Given the description of an element on the screen output the (x, y) to click on. 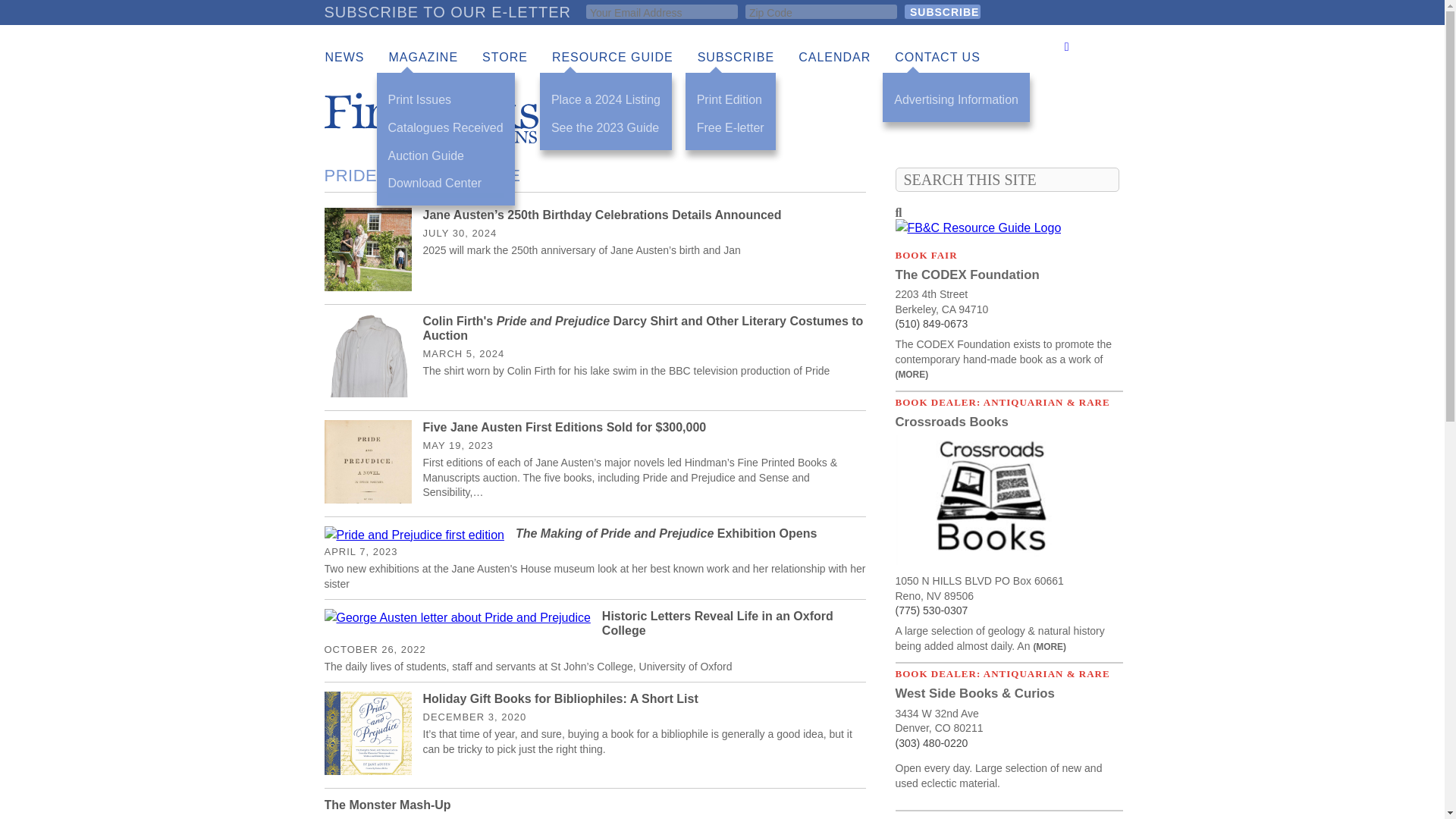
Download Center (445, 183)
Subscribe (941, 11)
CONTACT US (937, 57)
The CODEX Foundation (967, 274)
Print Issues (445, 100)
NEWS (344, 57)
Holiday Gift Books for Bibliophiles: A Short List (560, 698)
MAGAZINE (422, 57)
Advertising Information (955, 100)
